Given the description of an element on the screen output the (x, y) to click on. 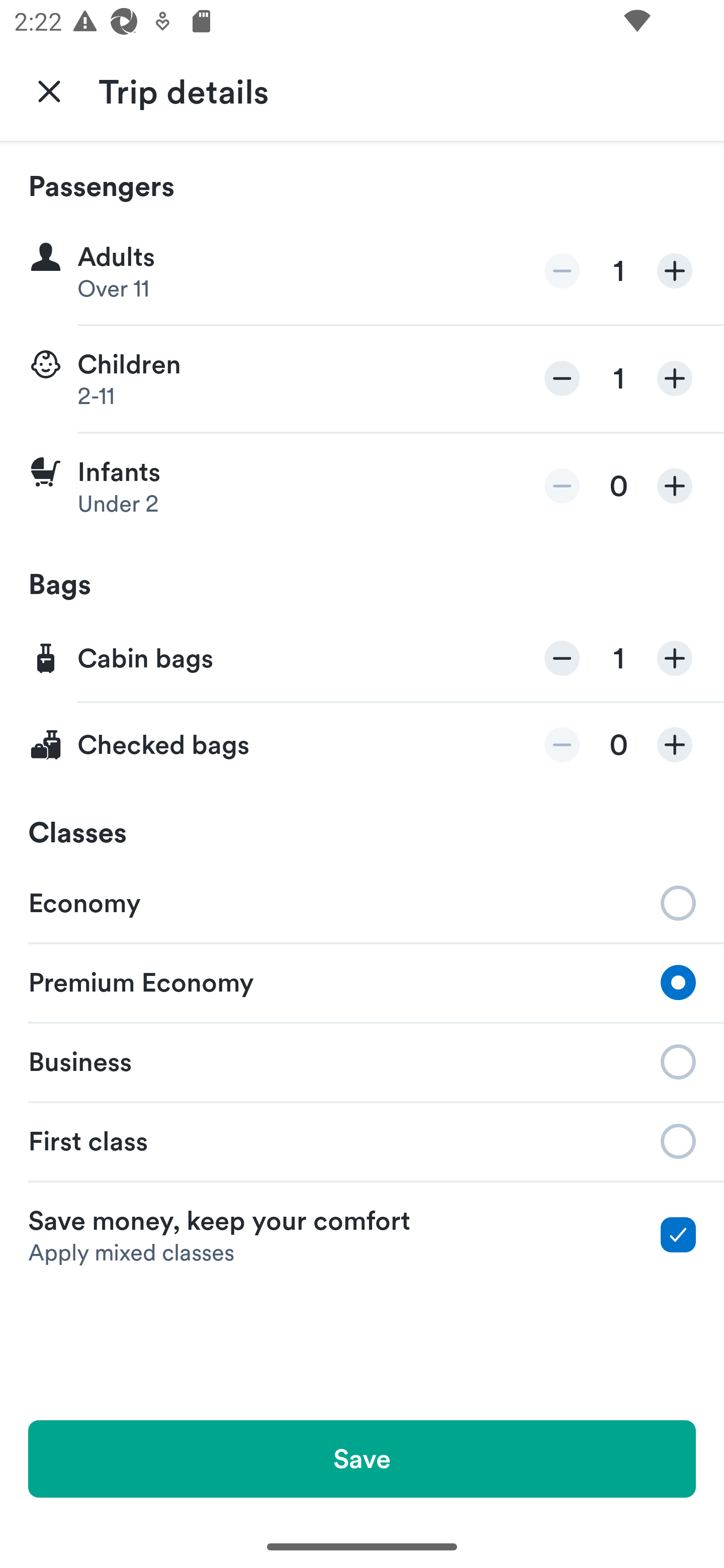
Navigate up (49, 90)
Remove 1 Add Adults Over 11 (362, 271)
Remove (561, 270)
Add (674, 270)
Remove 1 Add Children 2-11 (362, 379)
Remove (561, 377)
Add (674, 377)
Remove 0 Add Infants Under 2 (362, 485)
Remove (561, 485)
Add (674, 485)
Remove 1 Add Cabin bags (362, 659)
Remove (561, 658)
Add (674, 658)
Remove 0 Add Checked bags (362, 744)
Remove (561, 744)
Add (674, 744)
Economy (362, 901)
Business (362, 1060)
First class (362, 1141)
Save (361, 1458)
